Given the description of an element on the screen output the (x, y) to click on. 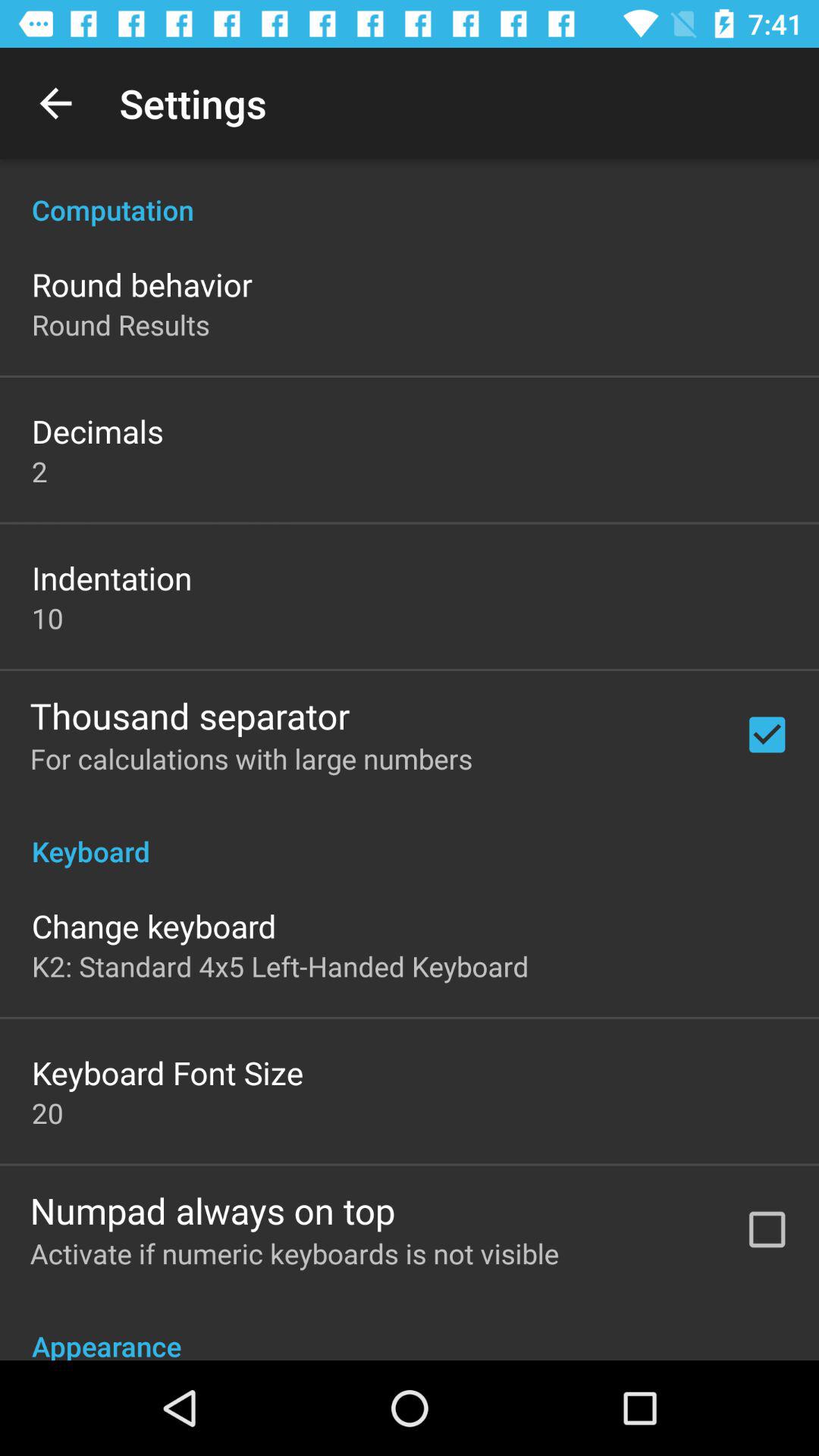
launch icon above for calculations with item (189, 715)
